Given the description of an element on the screen output the (x, y) to click on. 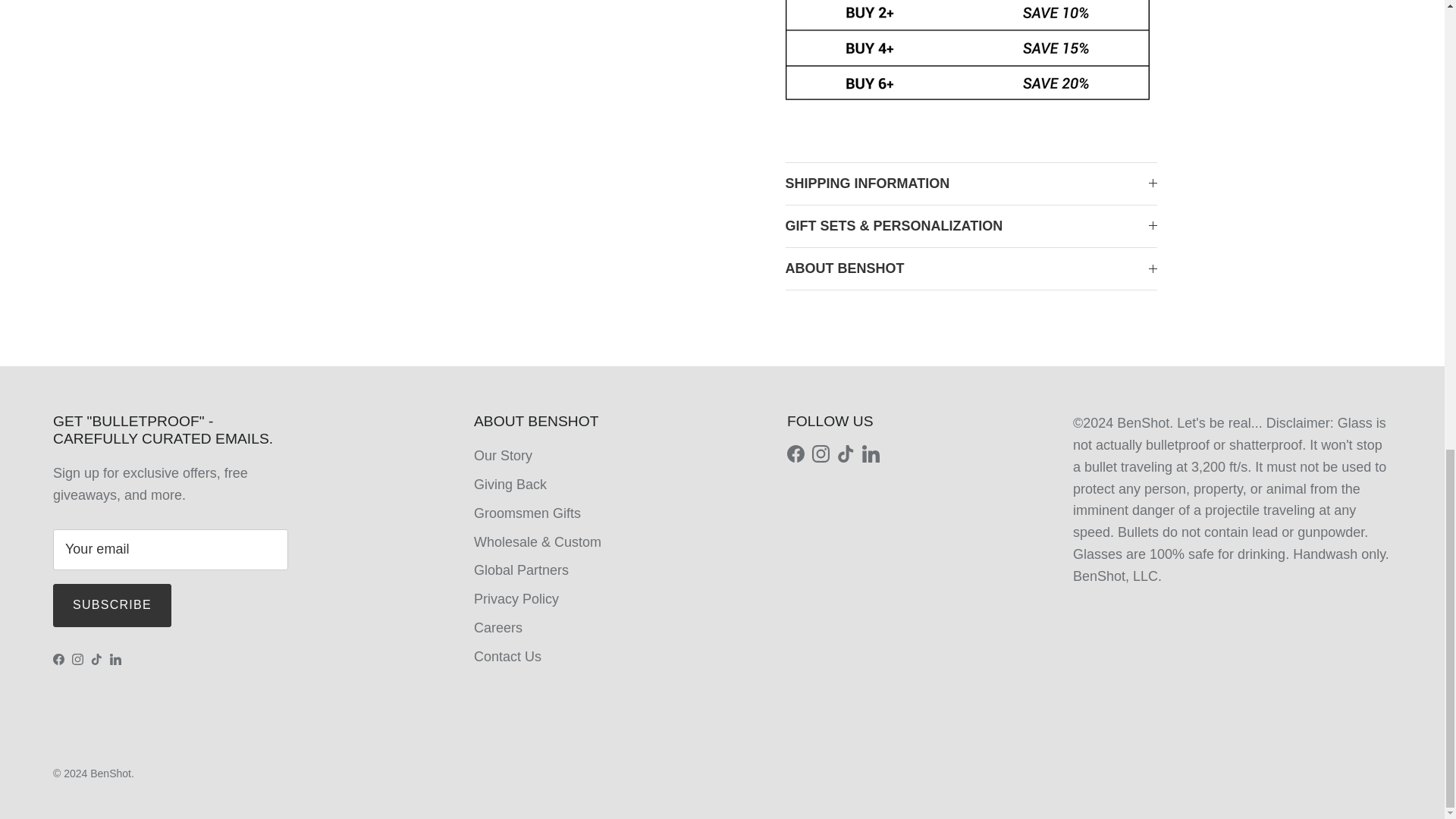
BenShot on TikTok (95, 659)
BenShot on Instagram (76, 659)
BenShot on LinkedIn (115, 659)
BenShot on Instagram (820, 453)
BenShot on LinkedIn (870, 453)
BenShot on TikTok (845, 453)
BenShot on Facebook (58, 659)
BenShot on Facebook (796, 453)
